Given the description of an element on the screen output the (x, y) to click on. 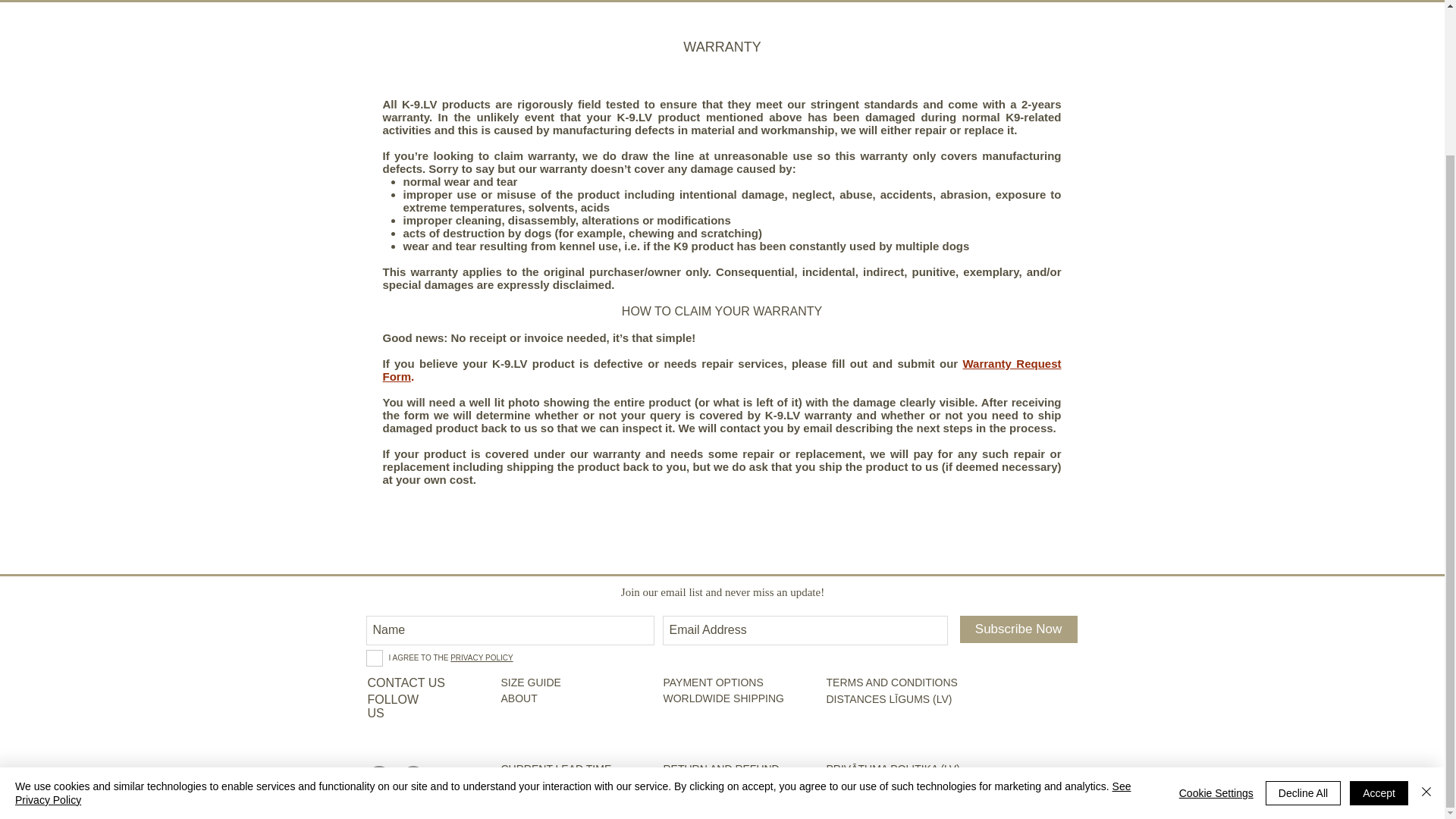
SIZE GUIDE (568, 683)
TERMS AND CONDITIONS (894, 683)
PRIVACY POLICY (480, 657)
Subscribe Now (1018, 628)
PAYMENT OPTIONS (719, 683)
WORLDWIDE SHIPPING (722, 698)
ABOUT (519, 698)
Warranty Request Form (721, 370)
CONTACT US (405, 683)
